Given the description of an element on the screen output the (x, y) to click on. 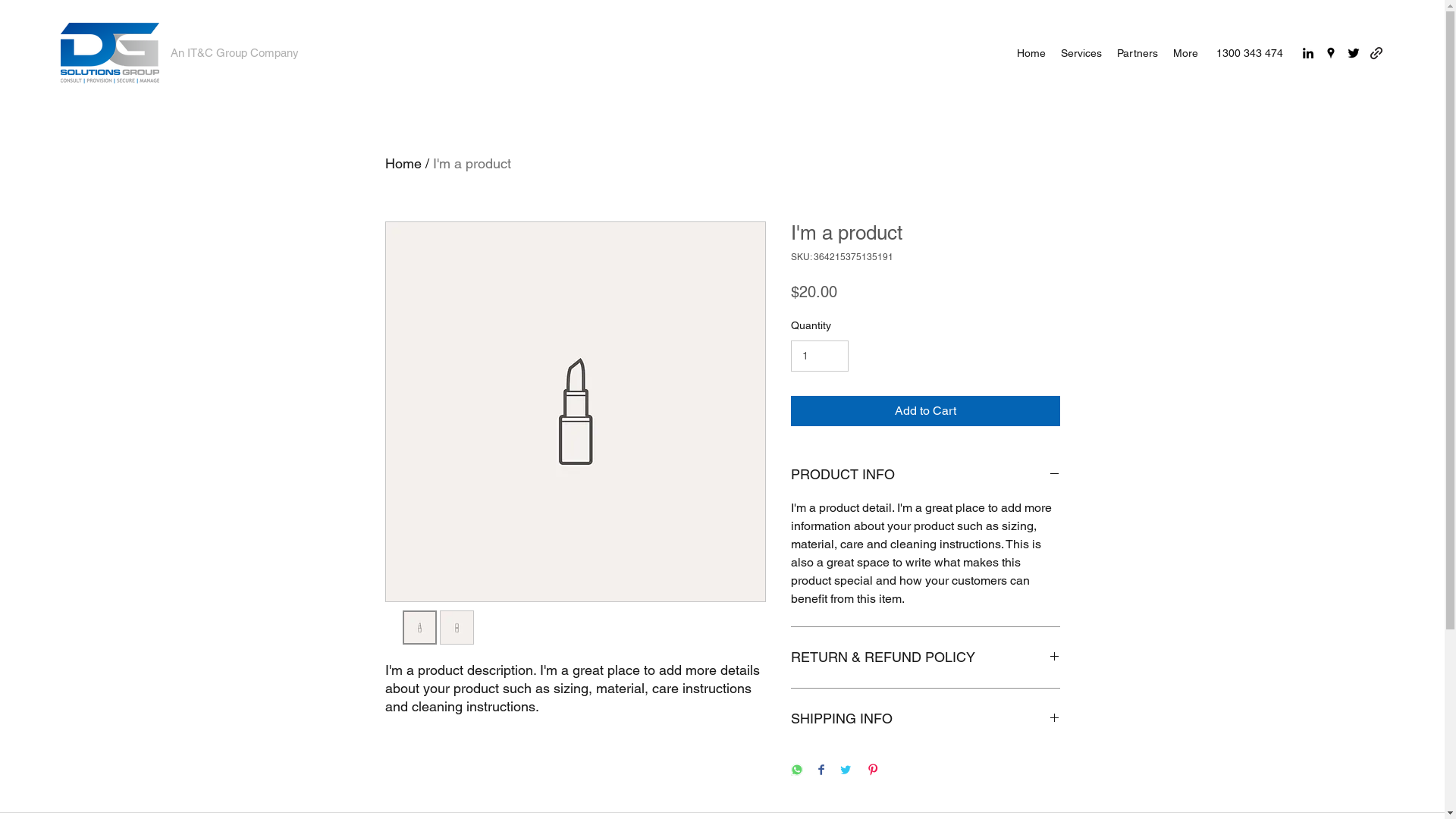
Partners Element type: text (1137, 52)
RETURN & REFUND POLICY Element type: text (924, 657)
Services Element type: text (1081, 52)
I'm a product Element type: text (471, 163)
Add to Cart Element type: text (924, 410)
SHIPPING INFO Element type: text (924, 718)
Home Element type: text (403, 163)
Home Element type: text (1031, 52)
PRODUCT INFO Element type: text (924, 474)
